Given the description of an element on the screen output the (x, y) to click on. 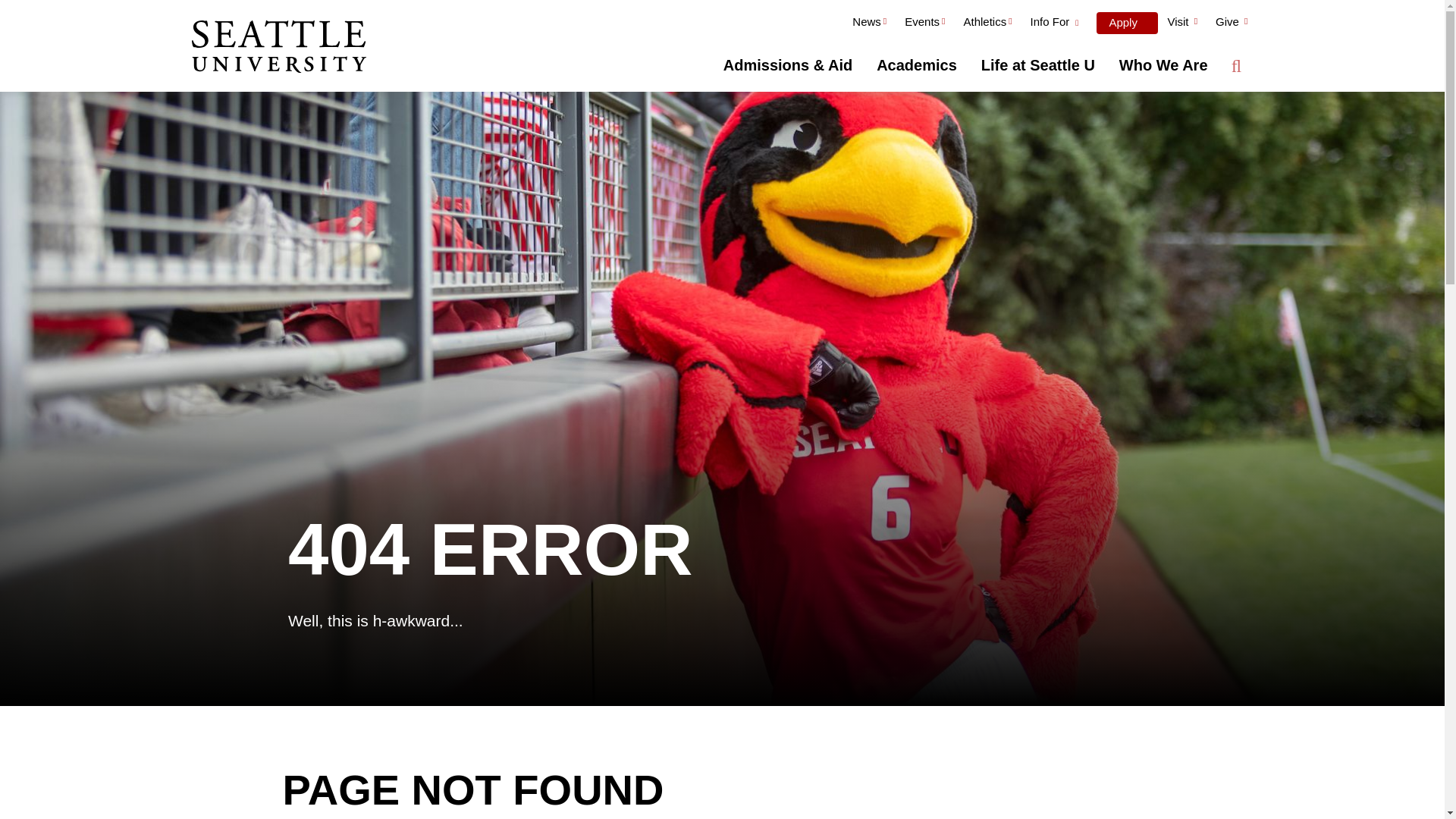
Visit (1182, 23)
Give (1231, 23)
Life at Seattle U (1037, 65)
Athletics (986, 23)
Events (924, 23)
Click to visit the home page (277, 47)
Academics (916, 65)
Apply (1126, 23)
News (869, 23)
